Given the description of an element on the screen output the (x, y) to click on. 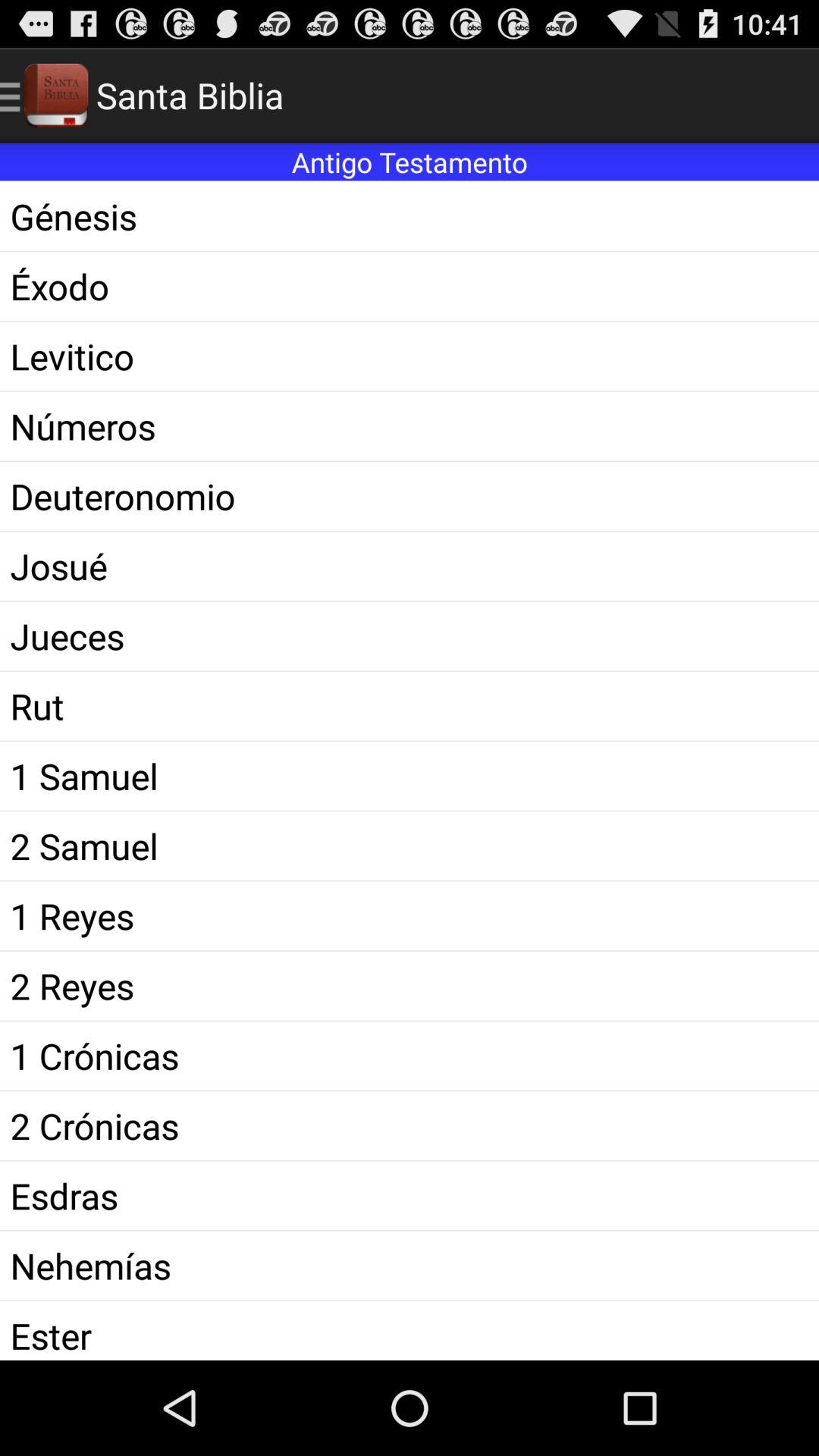
jump until 1 reyes app (409, 915)
